Given the description of an element on the screen output the (x, y) to click on. 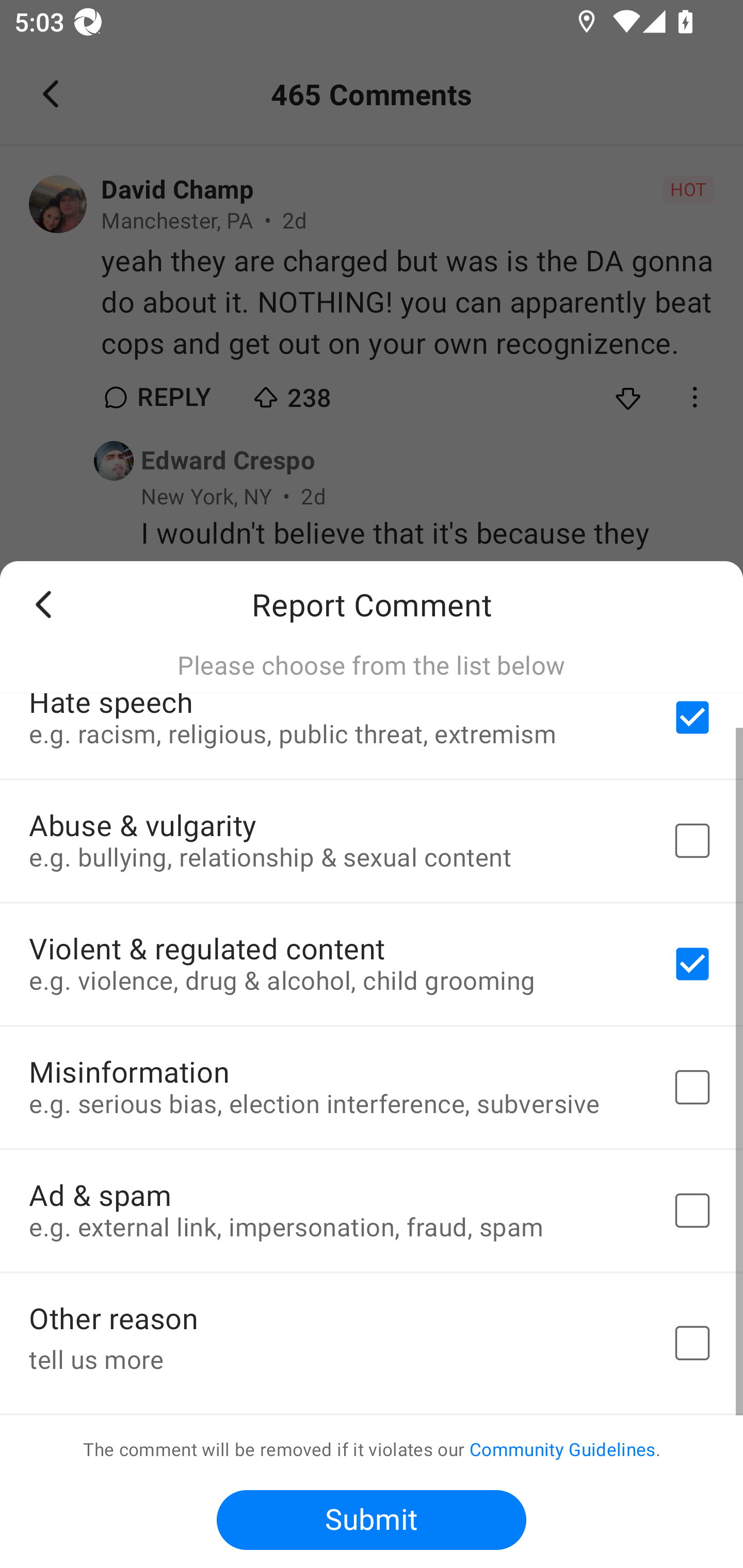
Other reason tell us more (371, 1342)
Submit (371, 1519)
